Given the description of an element on the screen output the (x, y) to click on. 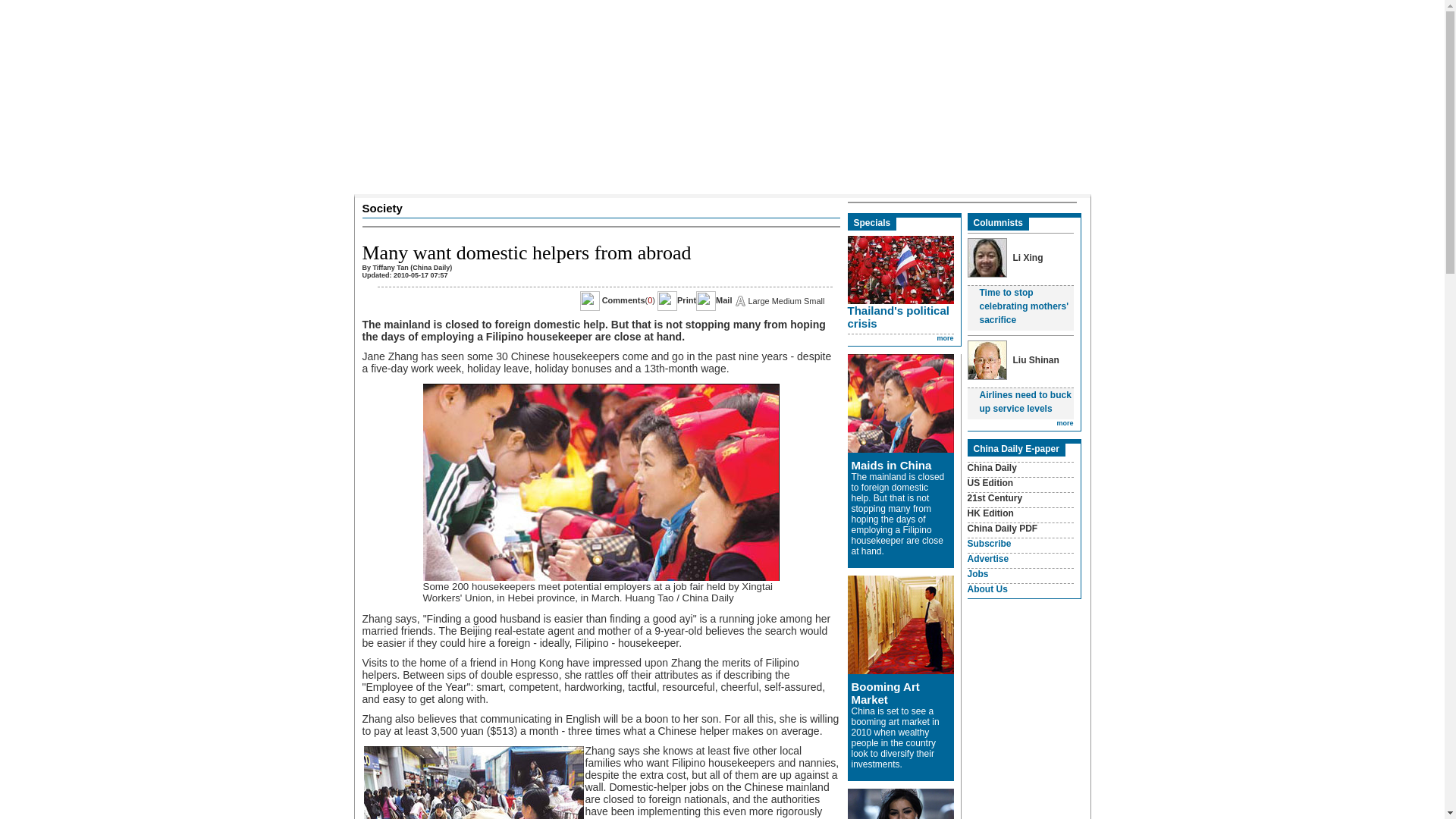
Maids in China (890, 464)
Print (686, 299)
Mail (724, 299)
Large (758, 300)
Booming Art Market (884, 692)
Small (814, 300)
Specials (872, 222)
more (944, 338)
Thailand's political crisis (898, 316)
Medium (786, 300)
